Given the description of an element on the screen output the (x, y) to click on. 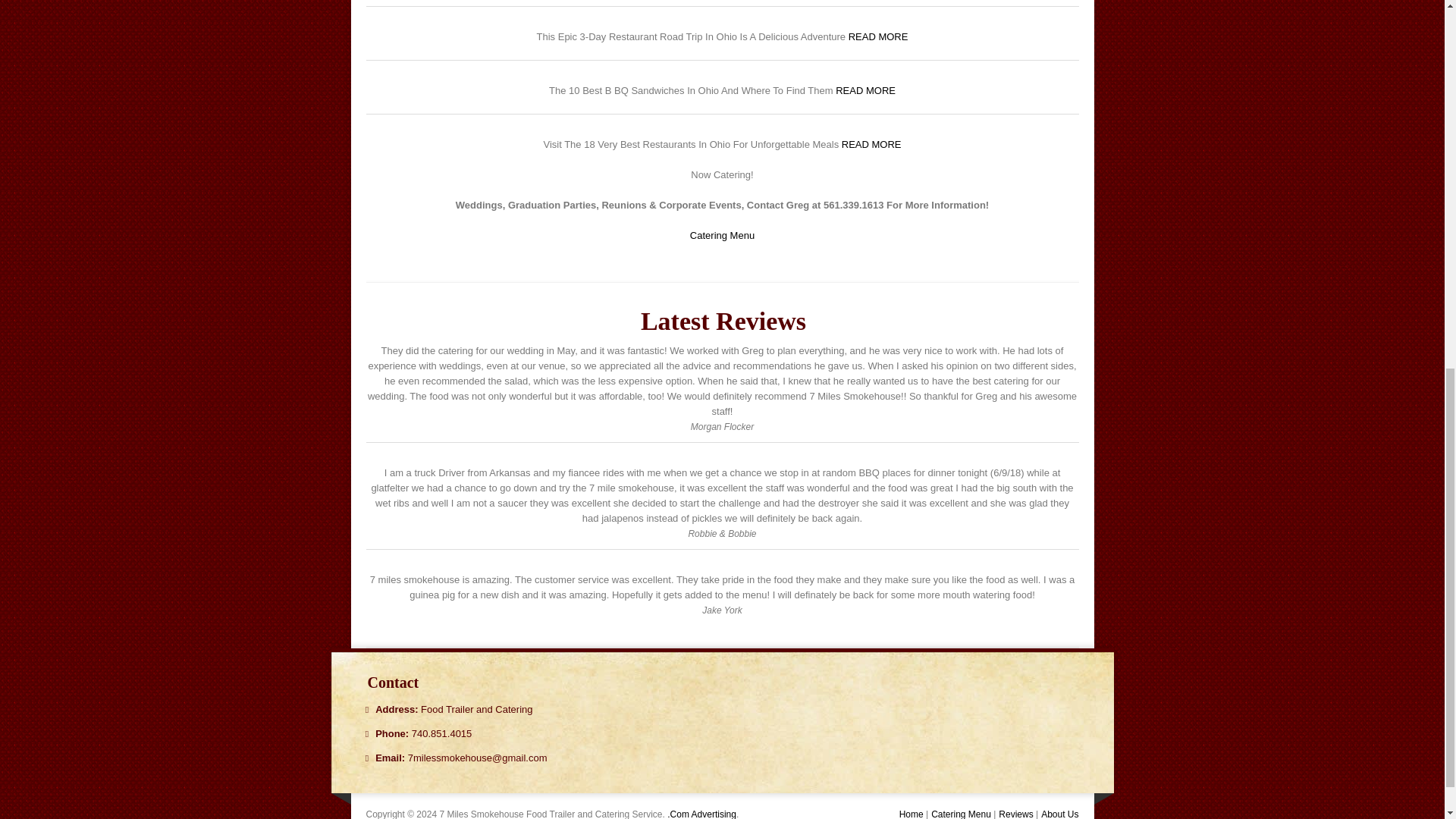
READ MORE (878, 36)
Catering Menu (722, 235)
READ MORE (865, 90)
READ MORE (871, 143)
